Given the description of an element on the screen output the (x, y) to click on. 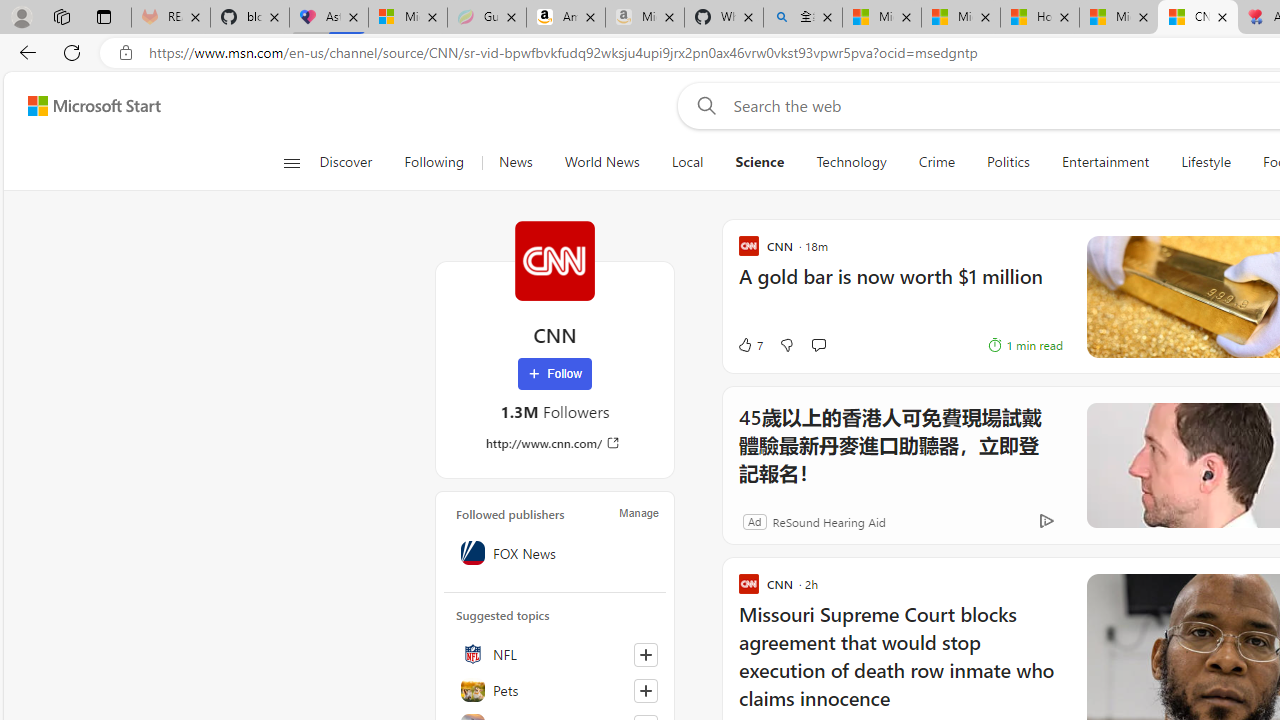
World News (601, 162)
Crime (936, 162)
Manage (639, 512)
Pets (555, 690)
Entertainment (1105, 162)
Lifestyle (1205, 162)
World News (602, 162)
Web search (702, 105)
Politics (1008, 162)
Lifestyle (1206, 162)
